Given the description of an element on the screen output the (x, y) to click on. 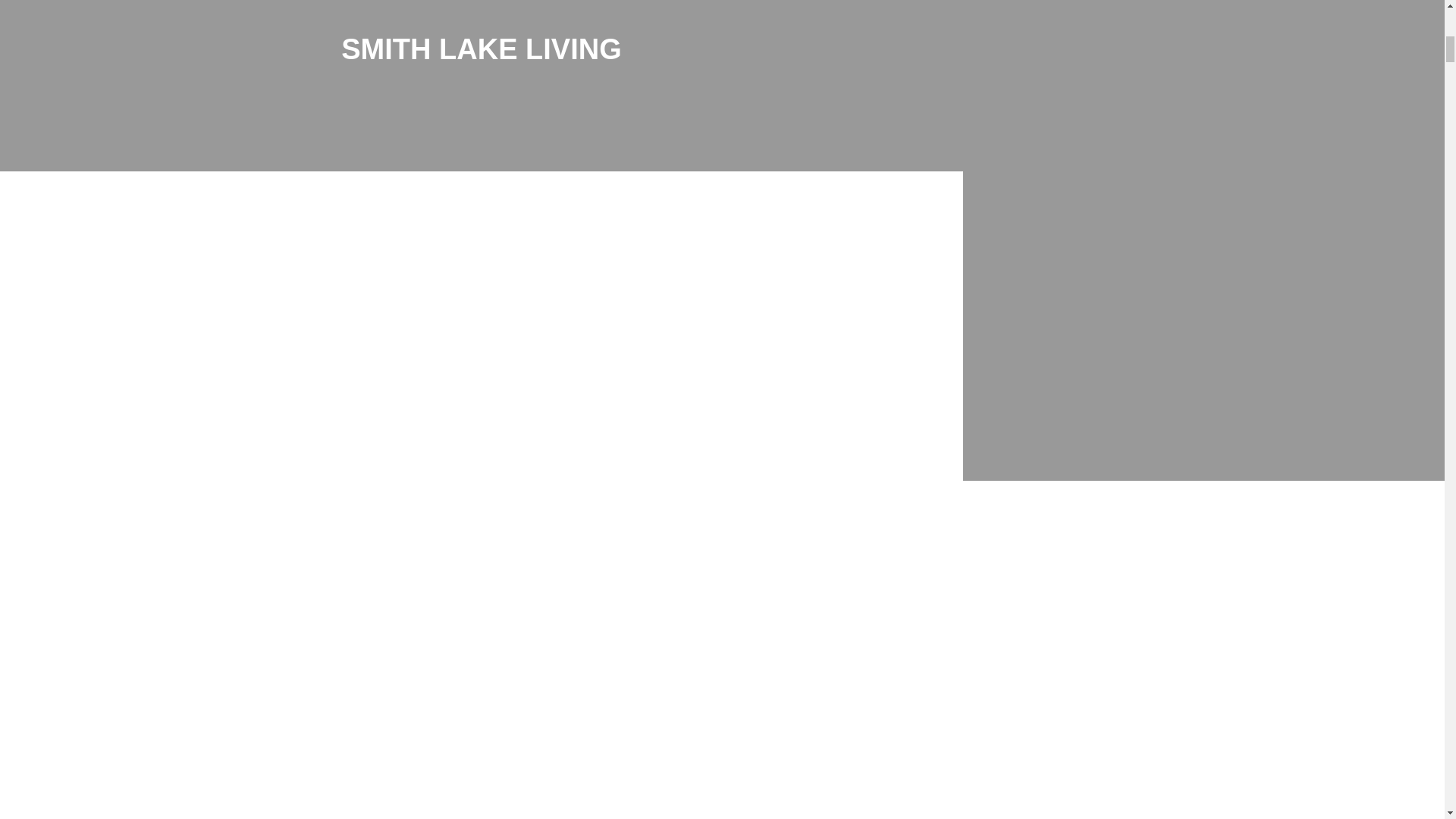
CAMP COLEMAN (1203, 208)
Salisbury Road Renovation (722, 707)
CRIDER LAKE HOUSE (481, 302)
CAMPBELL BAY HOUSE (722, 553)
SMITH LAKE LIVING (160, 302)
